Given the description of an element on the screen output the (x, y) to click on. 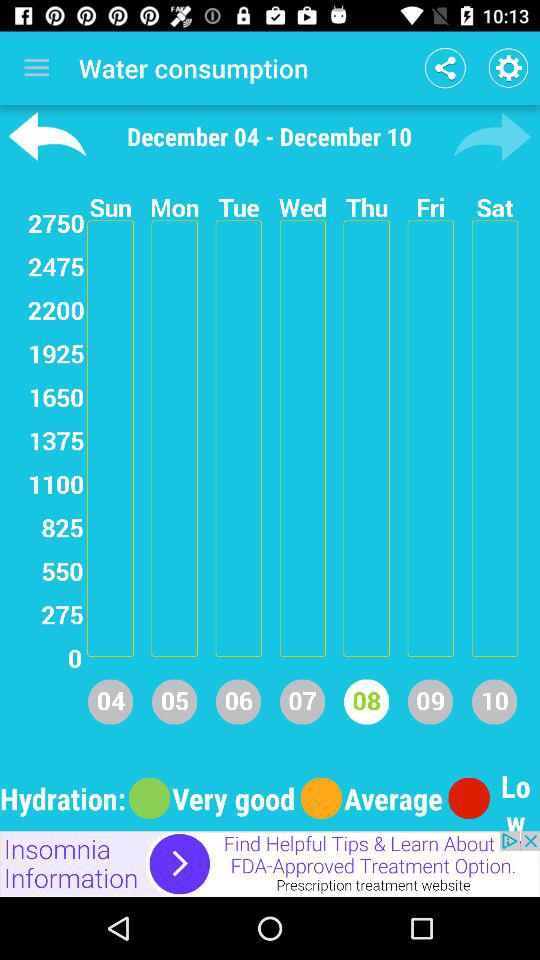
go to forward (492, 136)
